Given the description of an element on the screen output the (x, y) to click on. 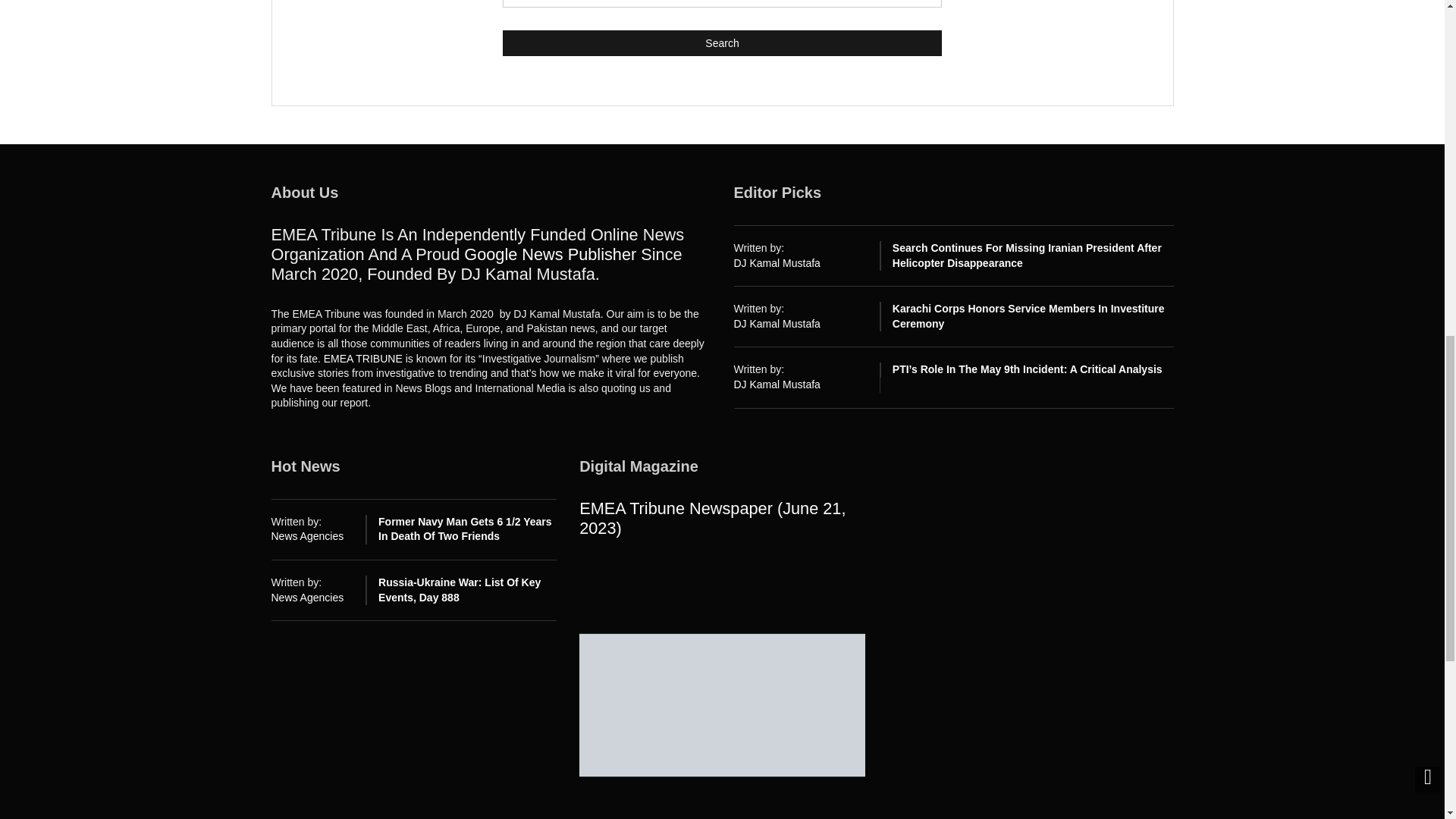
Russia-Ukraine war: List of key events, day 888 (459, 589)
Karachi Corps Honors Service Members in Investiture Ceremony (1028, 316)
Search (722, 43)
Search (722, 43)
